Given the description of an element on the screen output the (x, y) to click on. 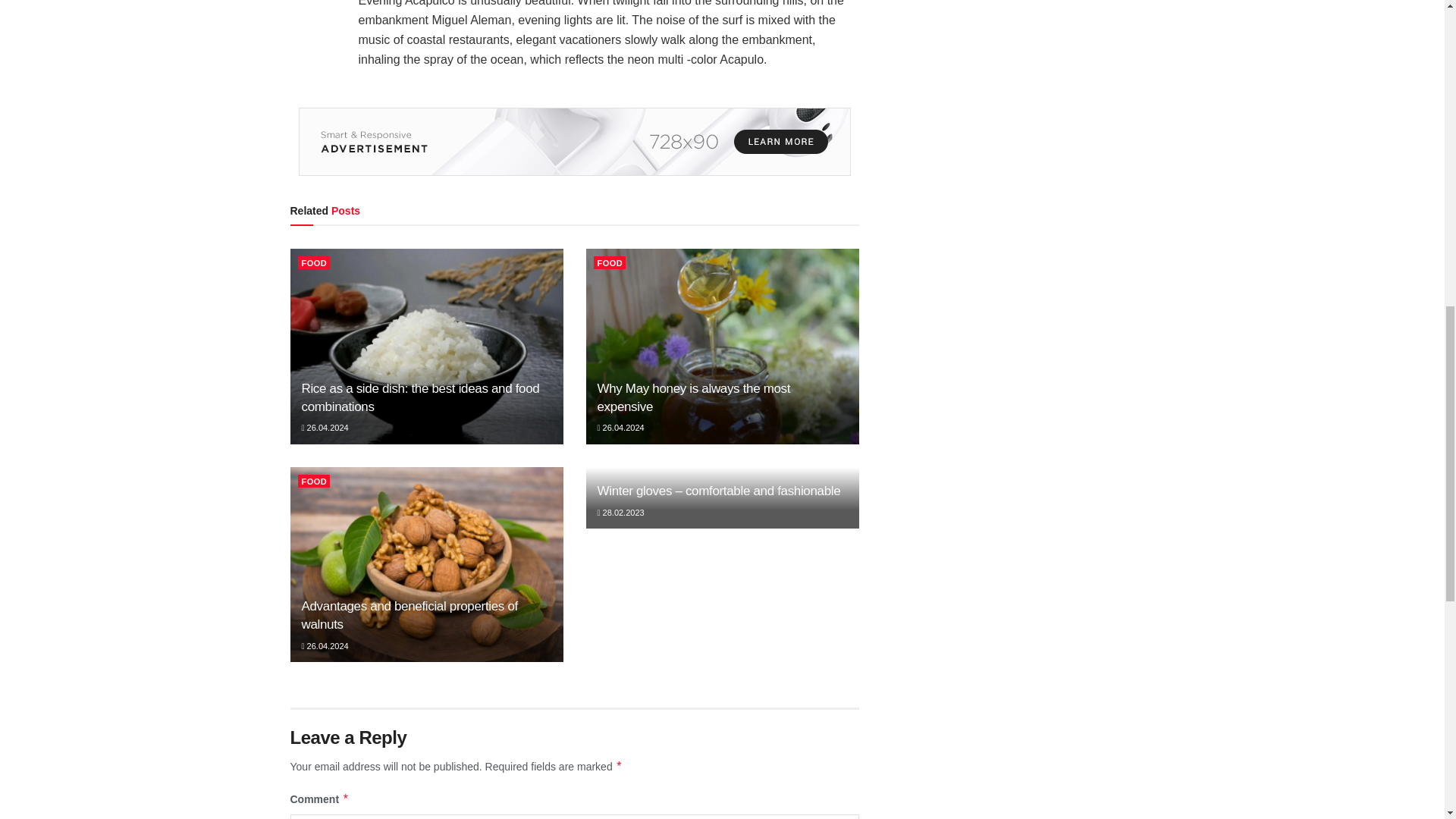
FOOD (609, 262)
Rice as a side dish: the best ideas and food combinations (420, 397)
FOOD (313, 262)
26.04.2024 (325, 427)
